Given the description of an element on the screen output the (x, y) to click on. 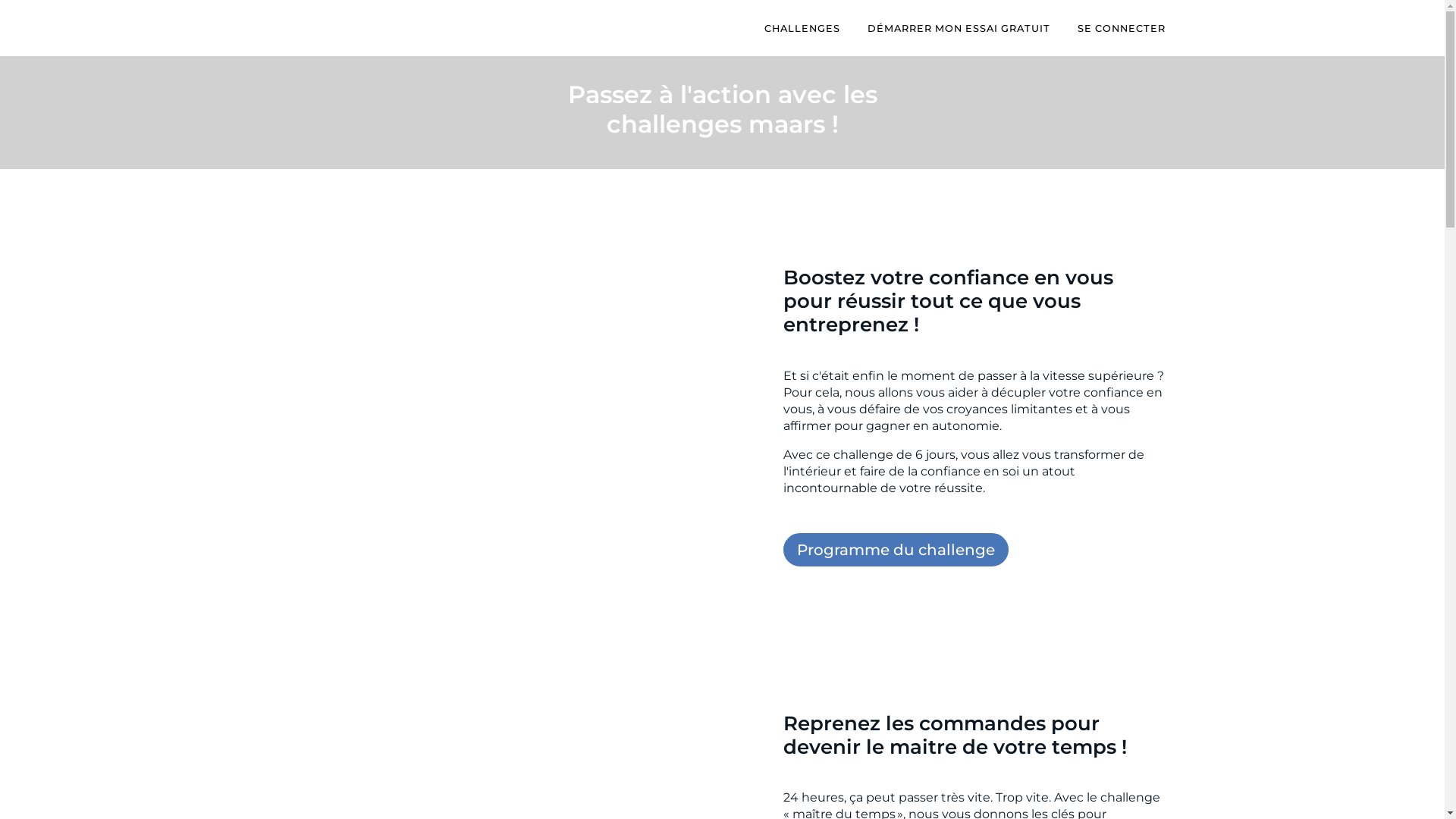
SE CONNECTER Element type: text (1120, 28)
Programme du challenge Element type: text (894, 549)
CHALLENGES Element type: text (802, 28)
